Given the description of an element on the screen output the (x, y) to click on. 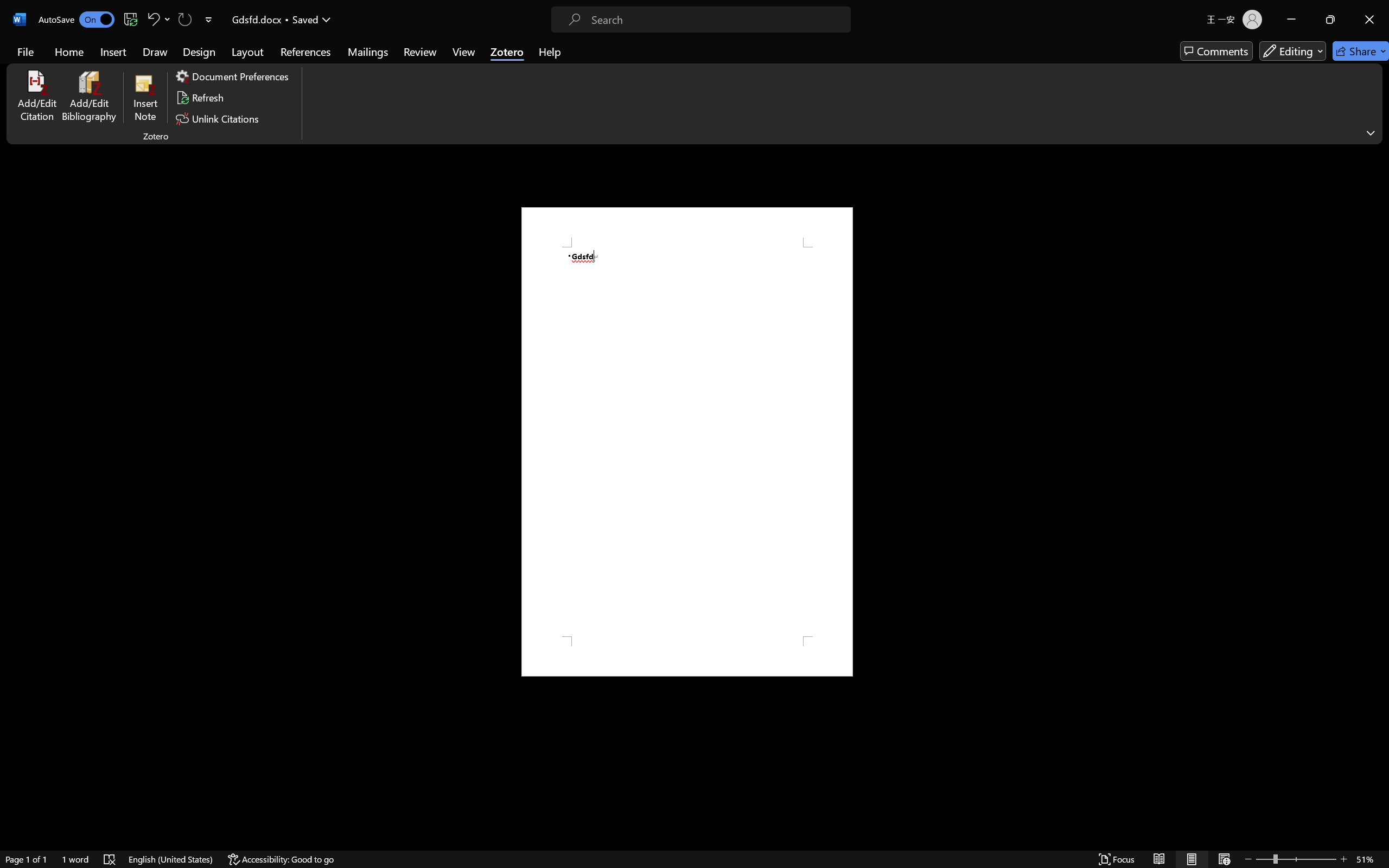
Page 1 content (686, 441)
